Given the description of an element on the screen output the (x, y) to click on. 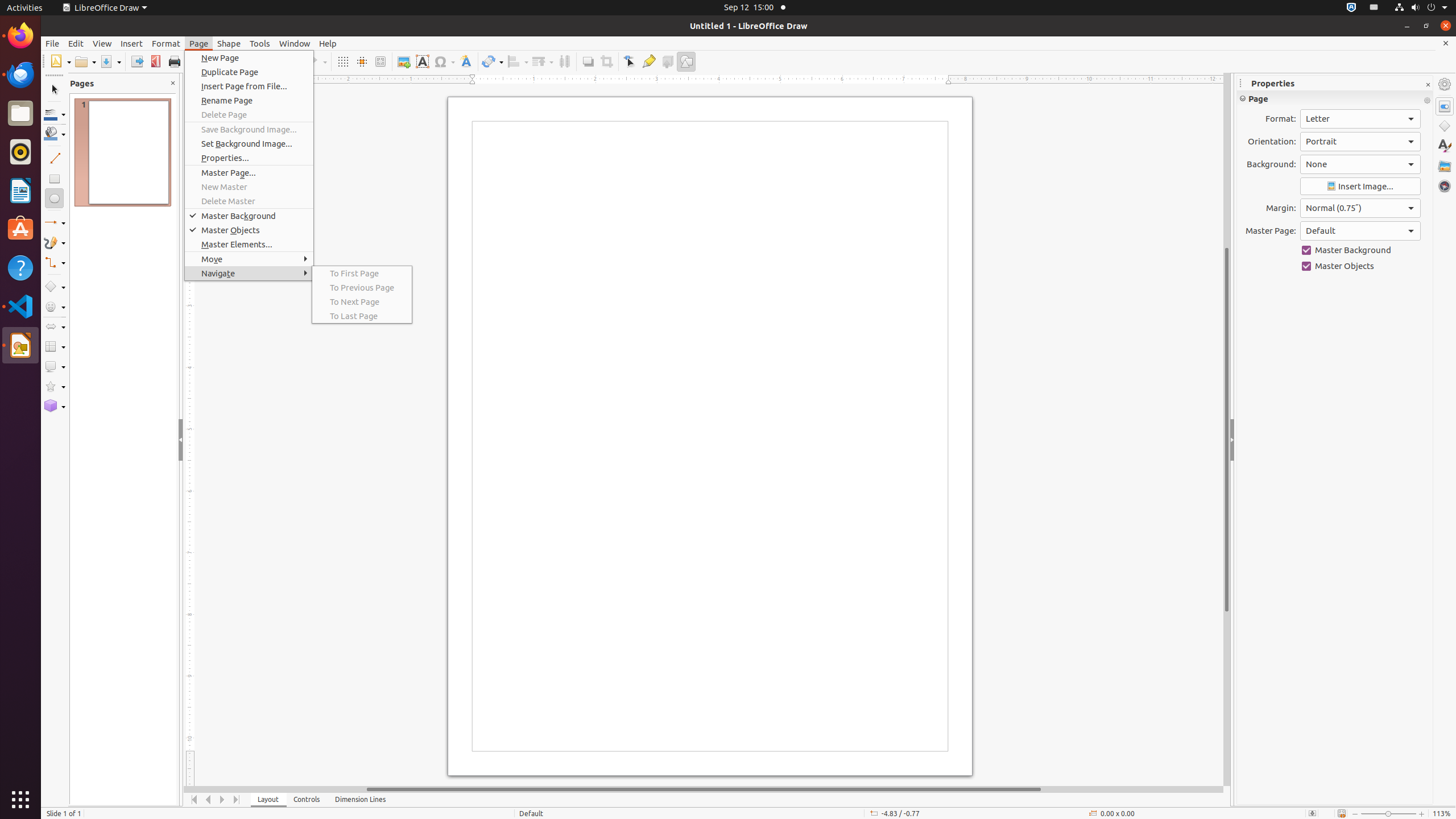
Shapes Element type: radio-button (1444, 126)
To Previous Page Element type: menu-item (361, 287)
Draw Functions Element type: toggle-button (685, 61)
Horizontal scroll bar Element type: scroll-bar (703, 789)
Master Background Element type: check-menu-item (248, 215)
